Given the description of an element on the screen output the (x, y) to click on. 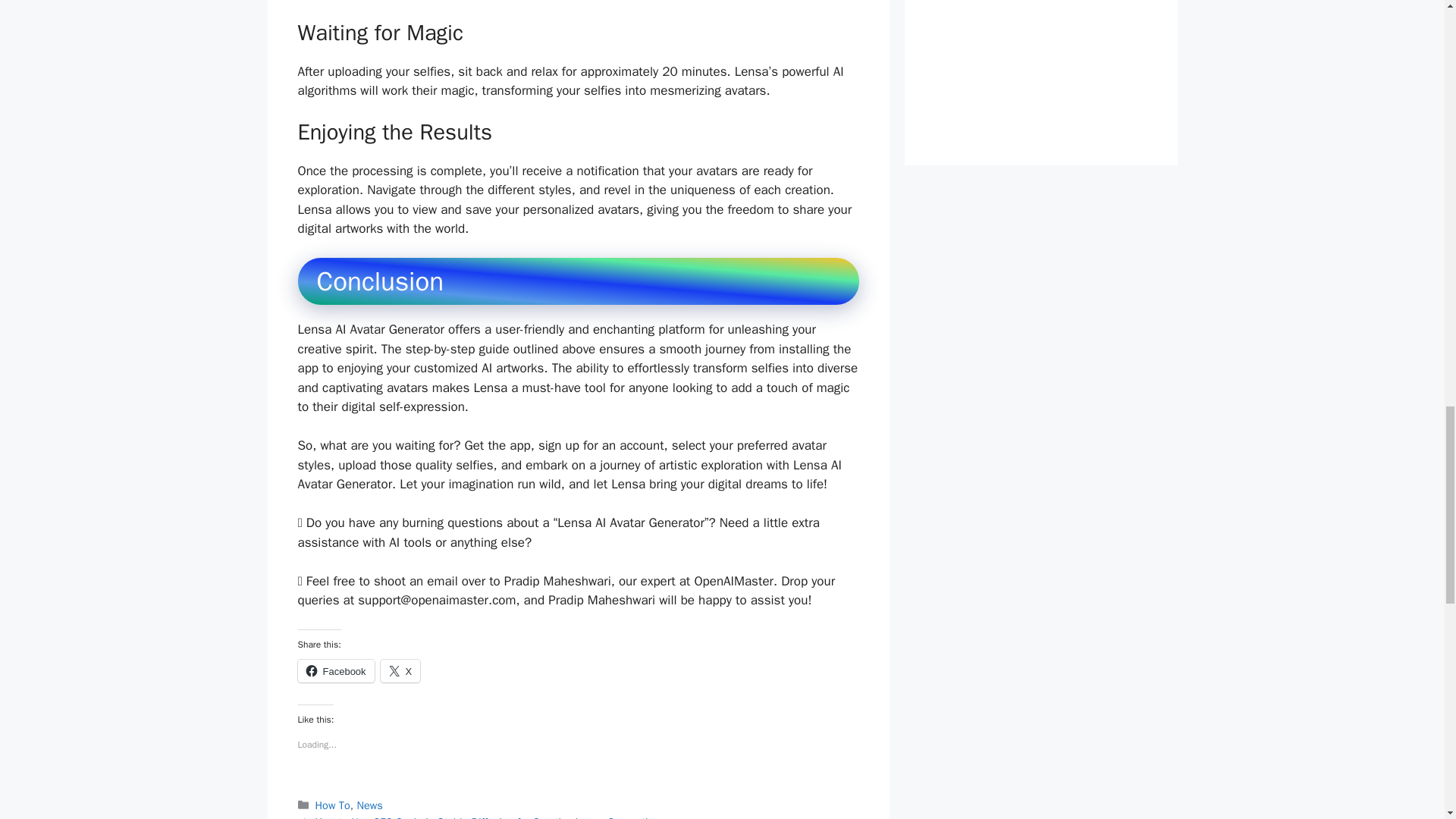
Click to share on Facebook (335, 671)
How To (332, 805)
Click to share on X (400, 671)
News (368, 805)
X (400, 671)
Facebook (335, 671)
